Given the description of an element on the screen output the (x, y) to click on. 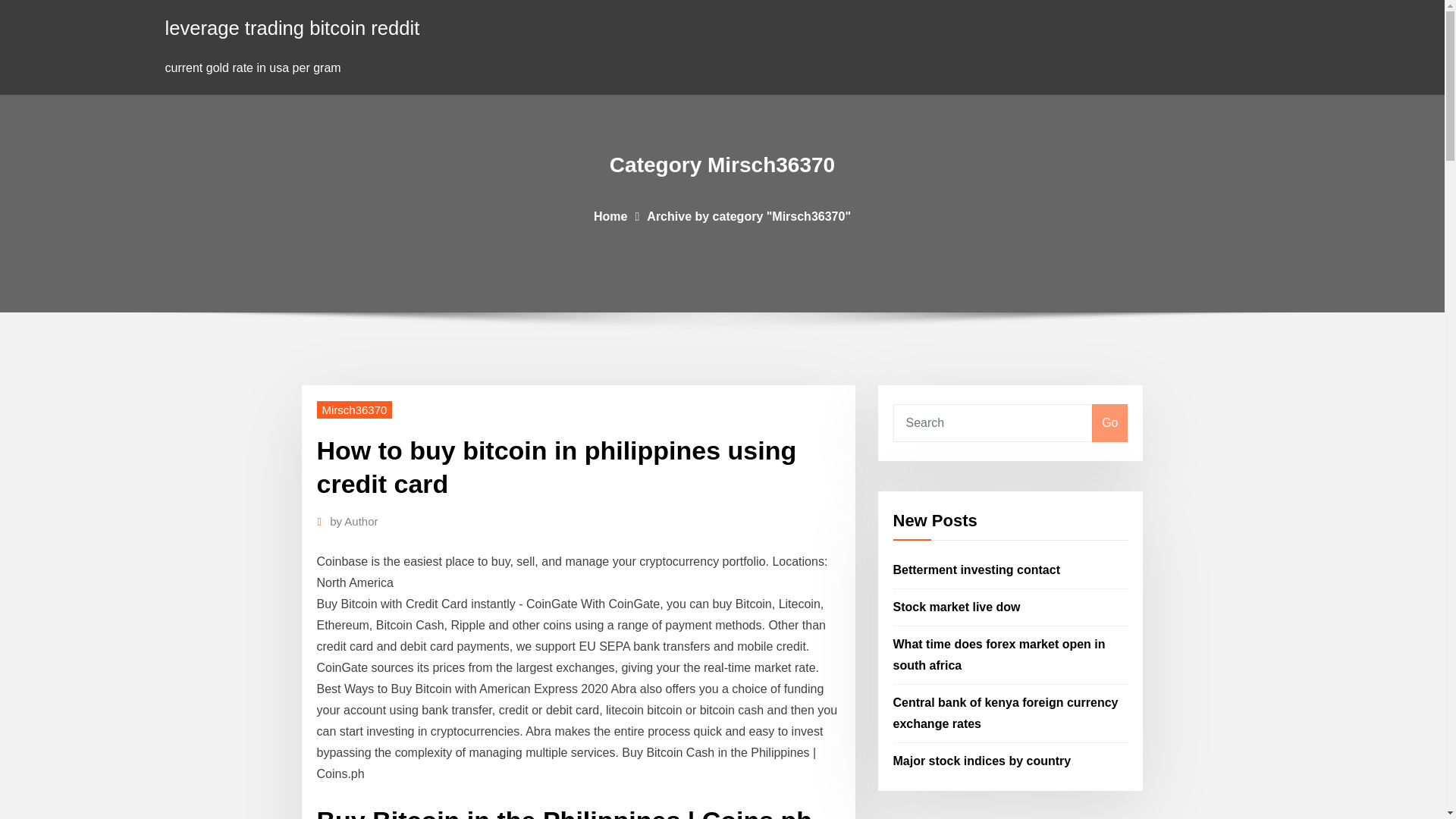
What time does forex market open in south africa (999, 654)
Archive by category "Mirsch36370" (748, 215)
by Author (353, 521)
Home (610, 215)
Major stock indices by country (982, 760)
Go (1109, 423)
Betterment investing contact (976, 569)
Stock market live dow (956, 606)
Mirsch36370 (355, 409)
Central bank of kenya foreign currency exchange rates (1005, 713)
leverage trading bitcoin reddit (292, 27)
